Given the description of an element on the screen output the (x, y) to click on. 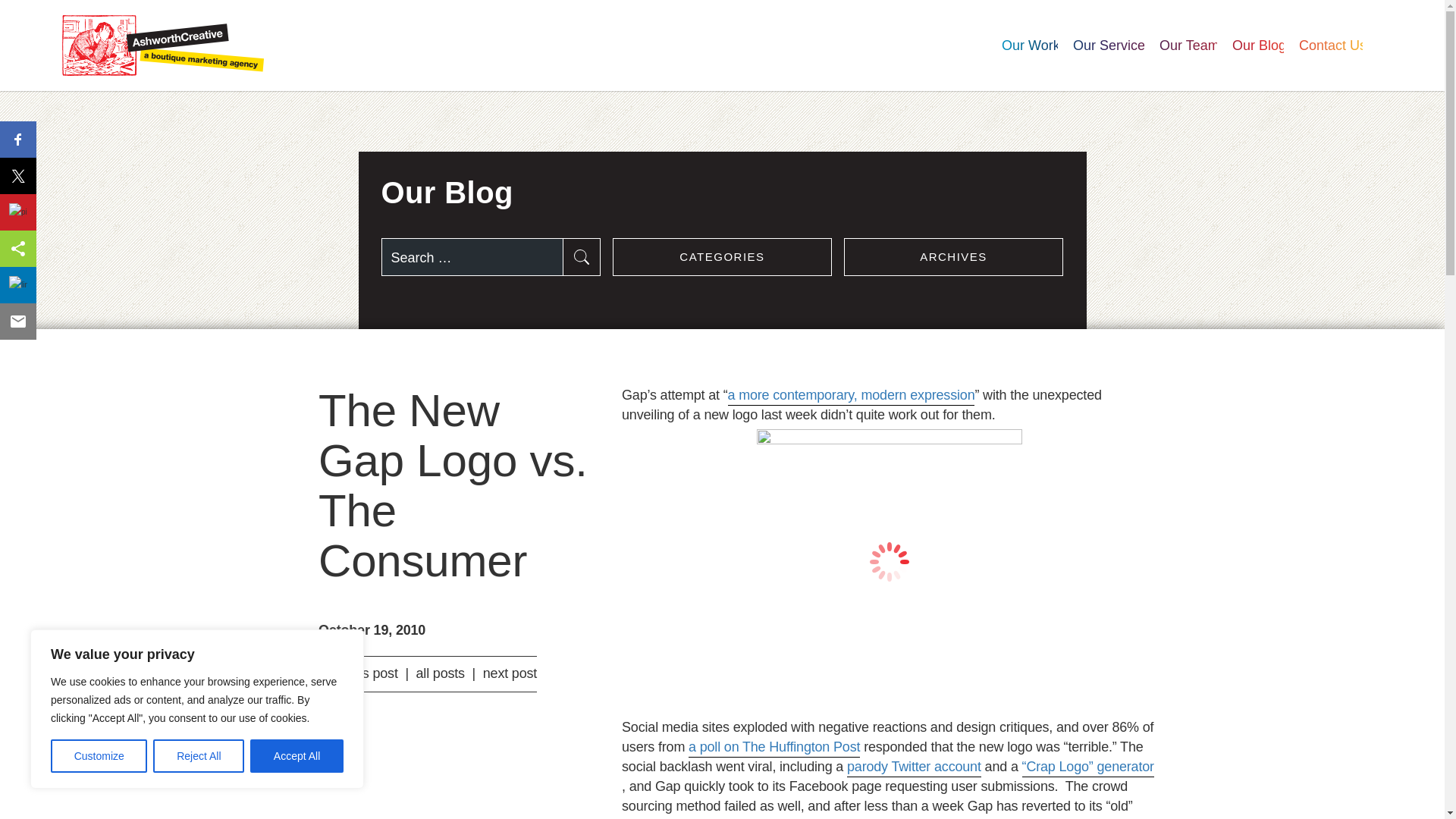
CATEGORIES (1323, 48)
Reject All (722, 257)
Accept All (1180, 48)
Our Services (198, 756)
Search (296, 756)
logo-2020 (1108, 45)
logo-2020 (32, 12)
Contact Us (162, 45)
Customize (132, 46)
Our Team (1330, 45)
Our Blog (1250, 48)
